Given the description of an element on the screen output the (x, y) to click on. 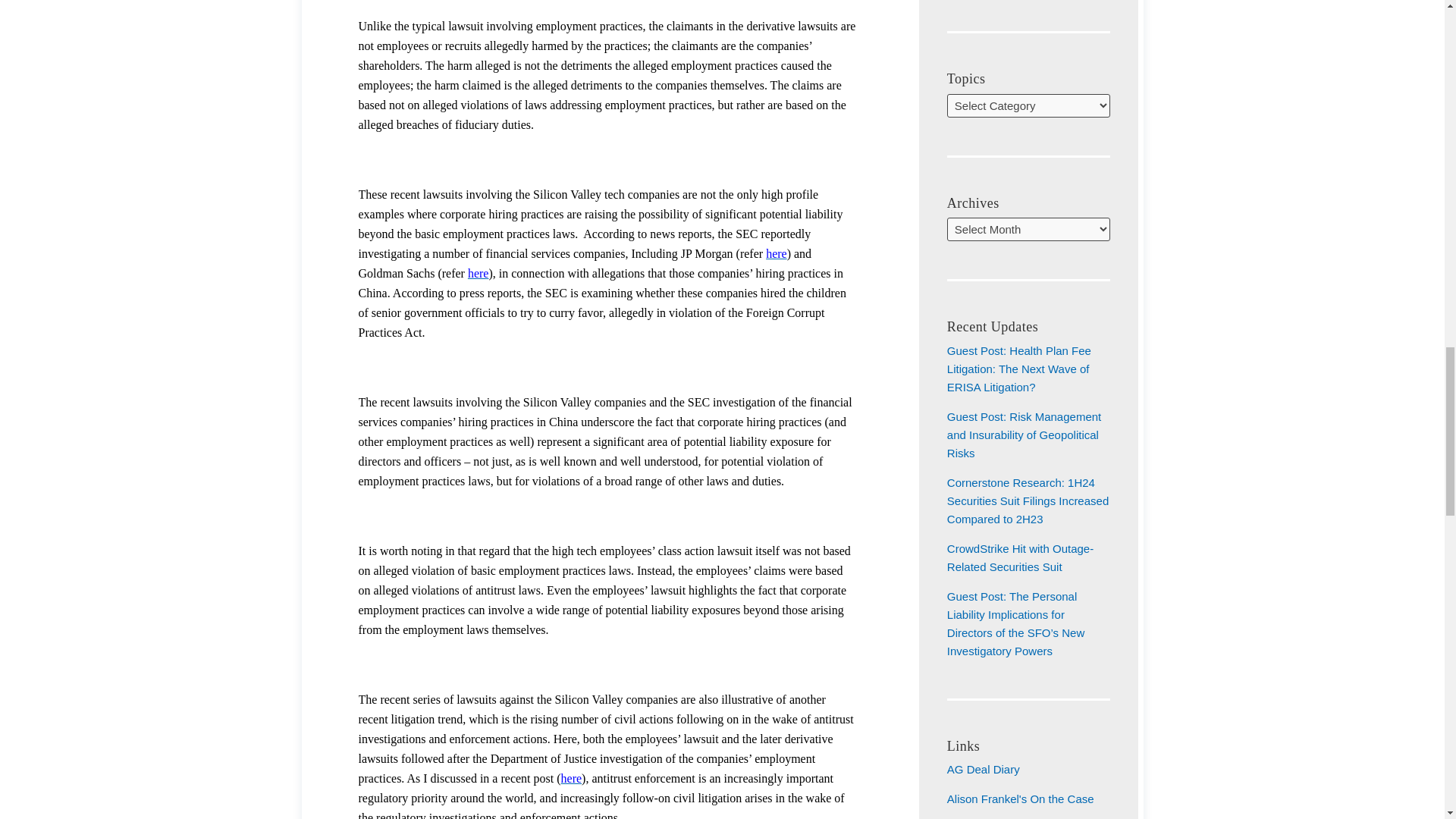
here (478, 273)
here (776, 253)
here (571, 778)
